Given the description of an element on the screen output the (x, y) to click on. 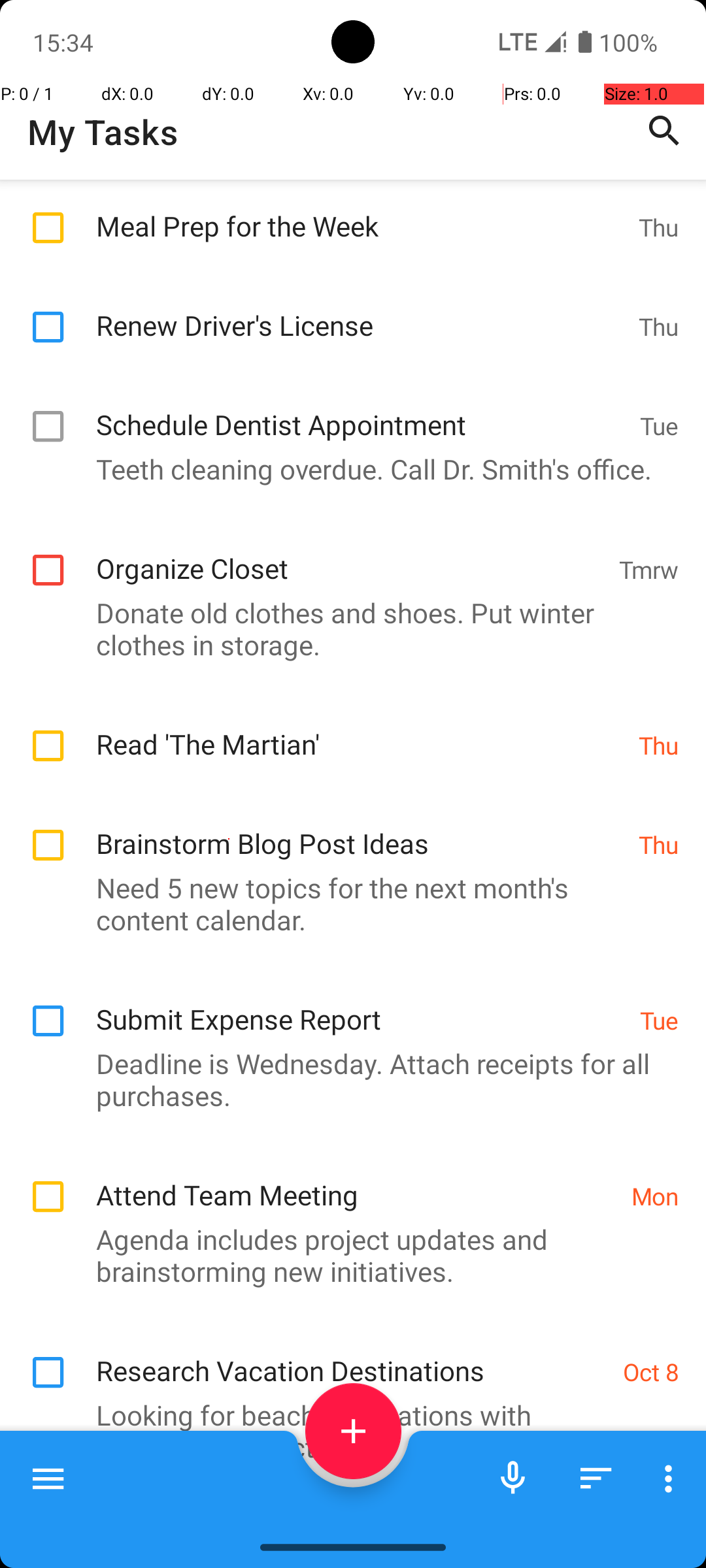
Teeth cleaning overdue. Call Dr. Smith's office. Element type: android.widget.TextView (346, 468)
Donate old clothes and shoes. Put winter clothes in storage. Element type: android.widget.TextView (346, 628)
Brainstorm Blog Post Ideas Element type: android.widget.TextView (360, 829)
Need 5 new topics for the next month's content calendar. Element type: android.widget.TextView (346, 903)
Deadline is Wednesday. Attach receipts for all purchases. Element type: android.widget.TextView (346, 1078)
Agenda includes project updates and brainstorming new initiatives. Element type: android.widget.TextView (346, 1254)
Looking for beach destinations with family-friendly activities. Element type: android.widget.TextView (346, 1430)
